Given the description of an element on the screen output the (x, y) to click on. 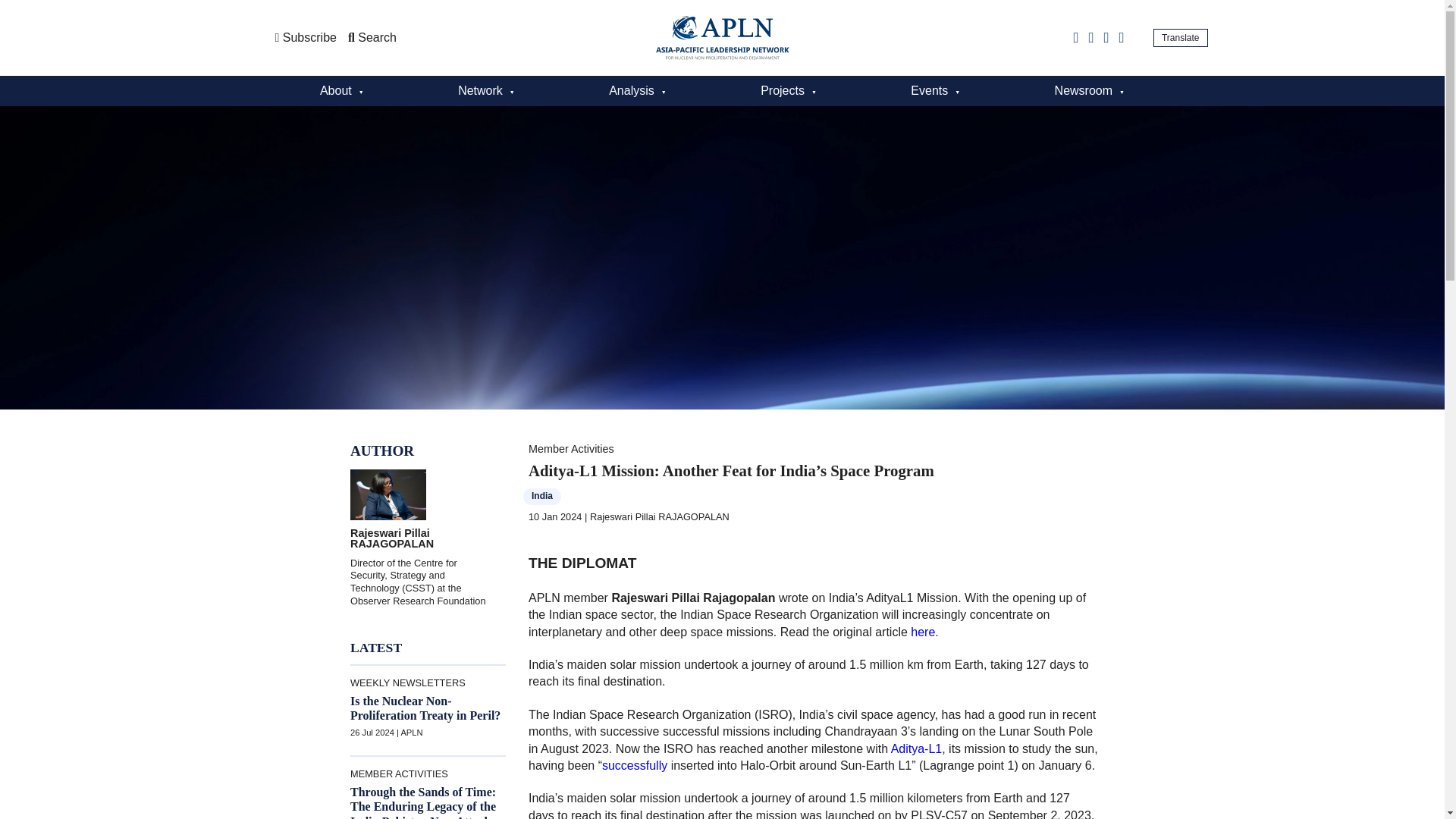
Projects (788, 91)
Search (371, 37)
Subscribe (305, 37)
Translate (1180, 37)
Network (485, 91)
About (341, 91)
